Given the description of an element on the screen output the (x, y) to click on. 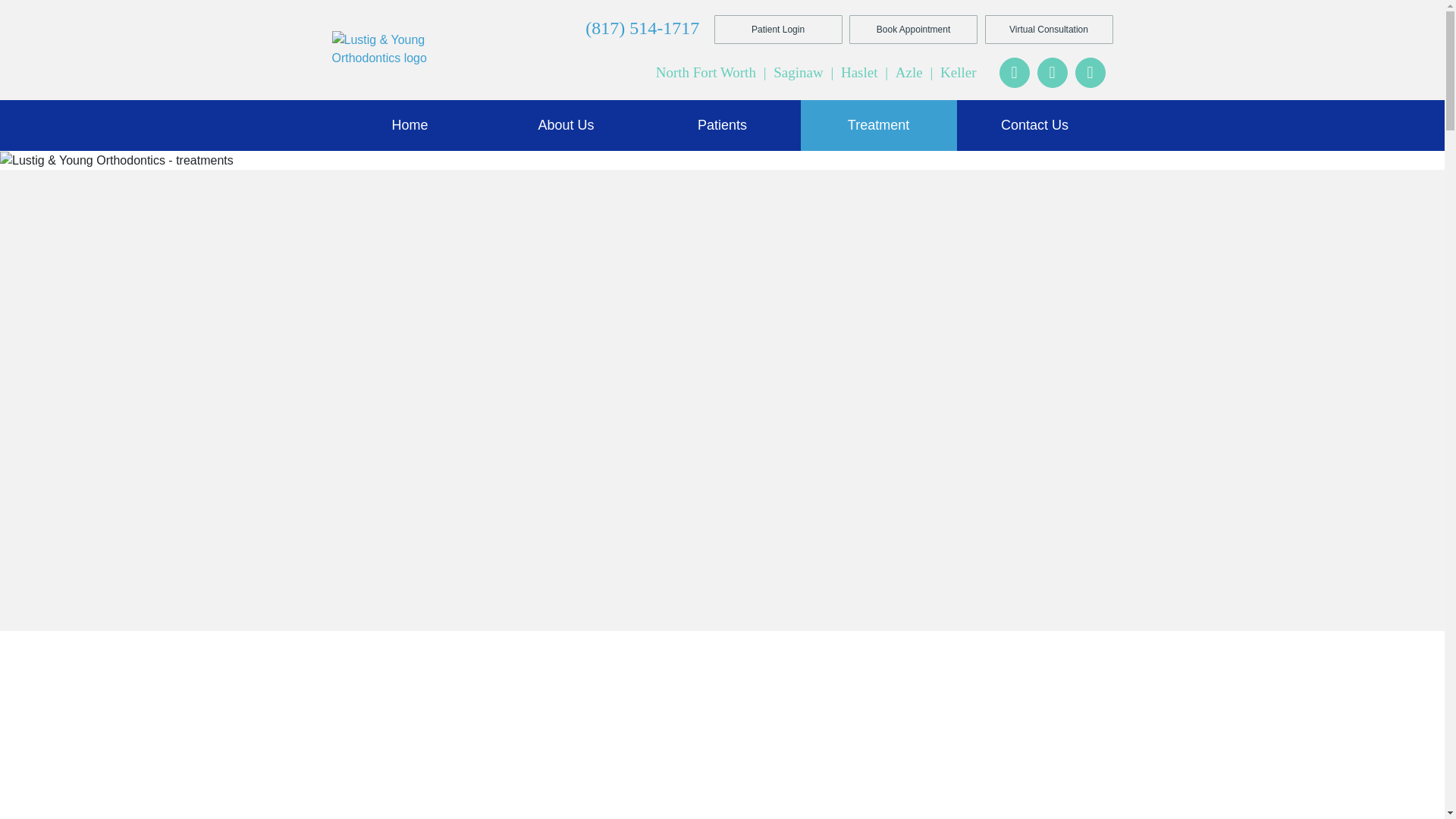
Facebook (1013, 72)
Book Appointment (912, 29)
Virtual Consultation (1048, 29)
Saginaw (800, 72)
Patient Login (778, 29)
Instagram (1090, 72)
Azle (910, 72)
YouTube (1051, 72)
Haslet (860, 72)
North Fort Worth (708, 72)
Keller (957, 72)
